Given the description of an element on the screen output the (x, y) to click on. 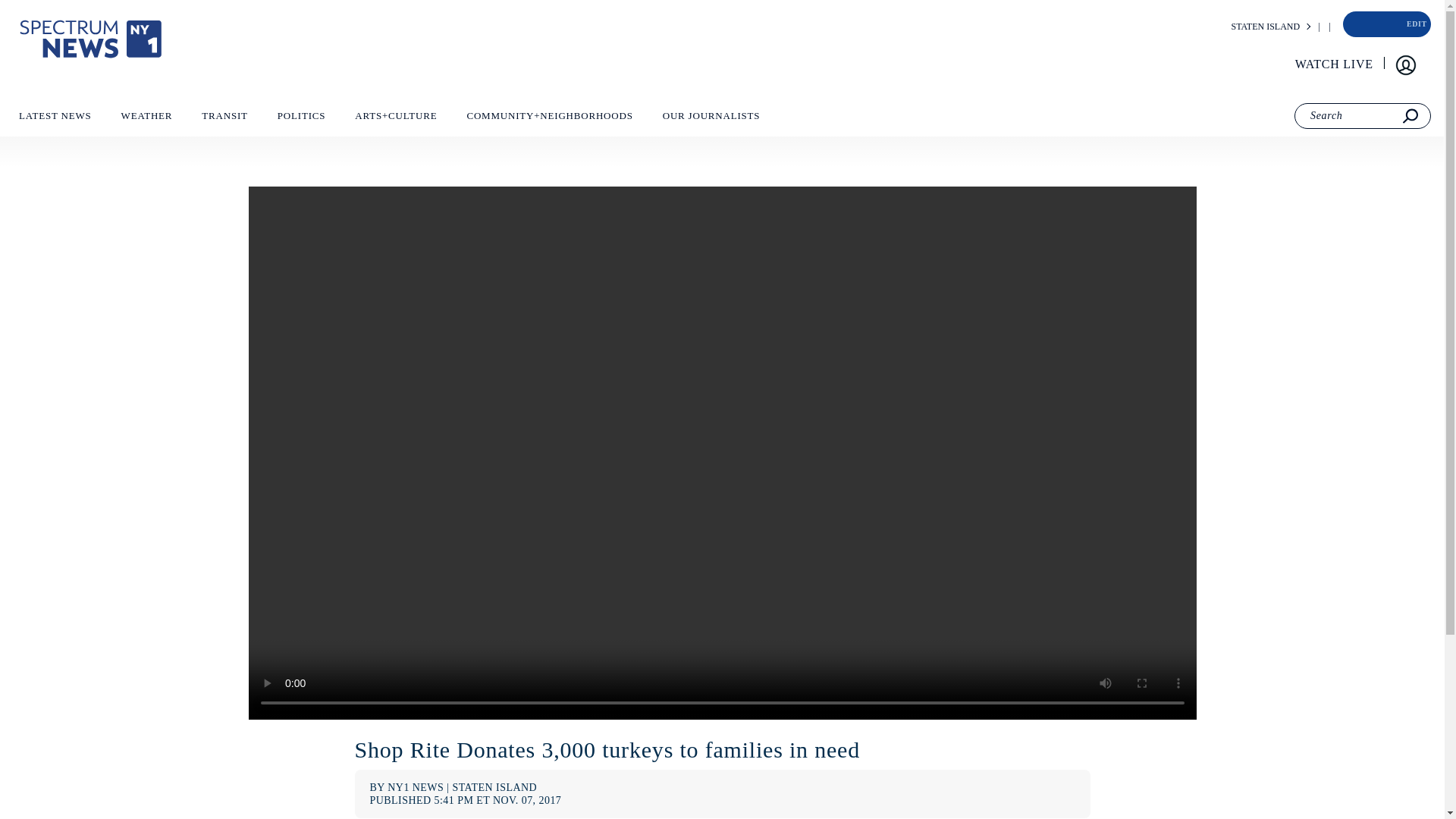
LATEST NEWS (55, 119)
STATEN ISLAND (1265, 26)
WEATHER (146, 119)
WATCH LIVE (1334, 64)
